Given the description of an element on the screen output the (x, y) to click on. 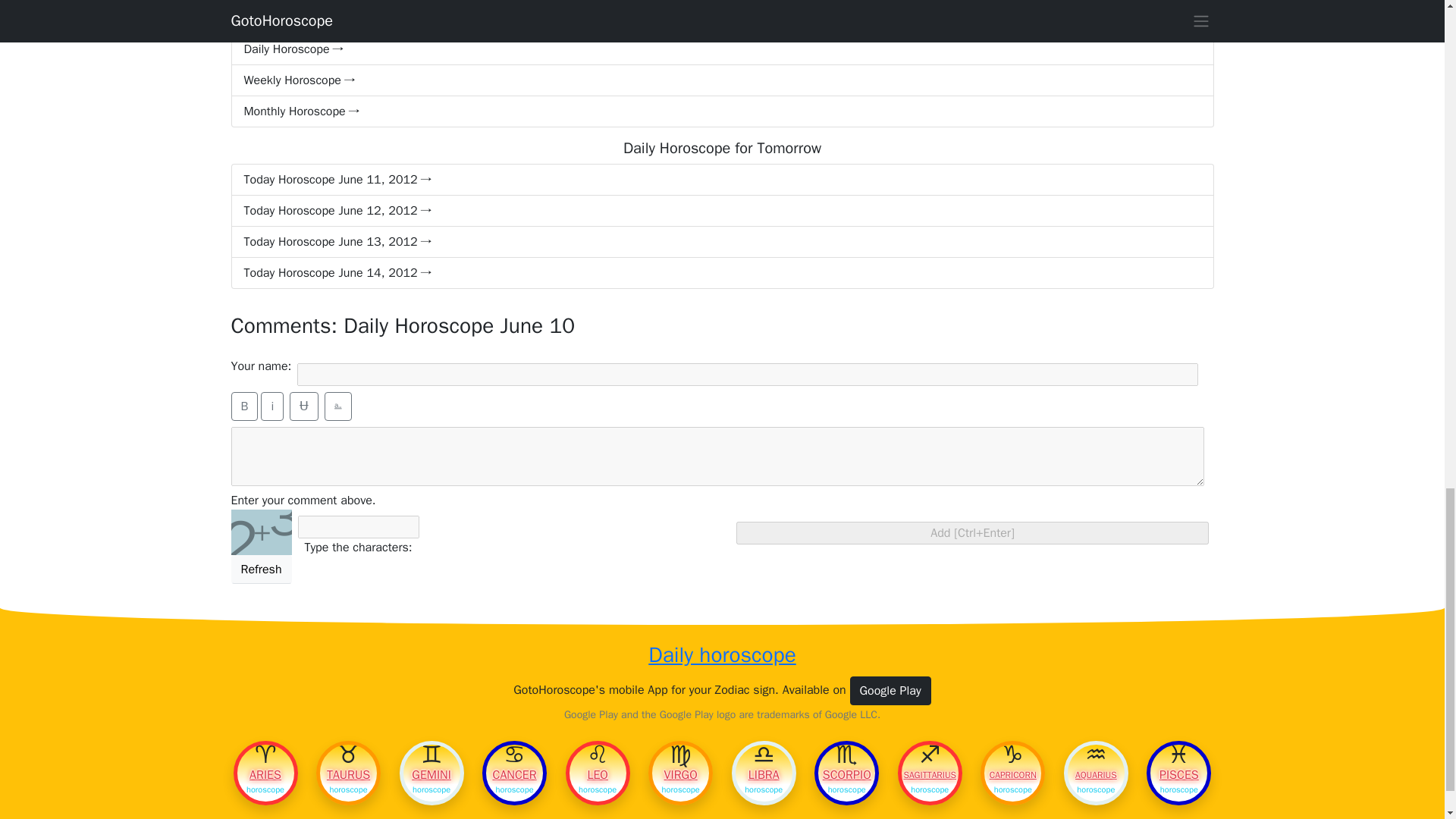
Refresh (260, 569)
Today Horoscope June 11, 2012 (721, 179)
Daily Horoscope (721, 49)
Today Horoscope June 13, 2012 (721, 241)
B (243, 406)
Today Horoscope June 12, 2012 (721, 210)
Today Horoscope June 14, 2012 (721, 273)
Monthly Horoscope (721, 111)
Weekly Horoscope (721, 80)
